Given the description of an element on the screen output the (x, y) to click on. 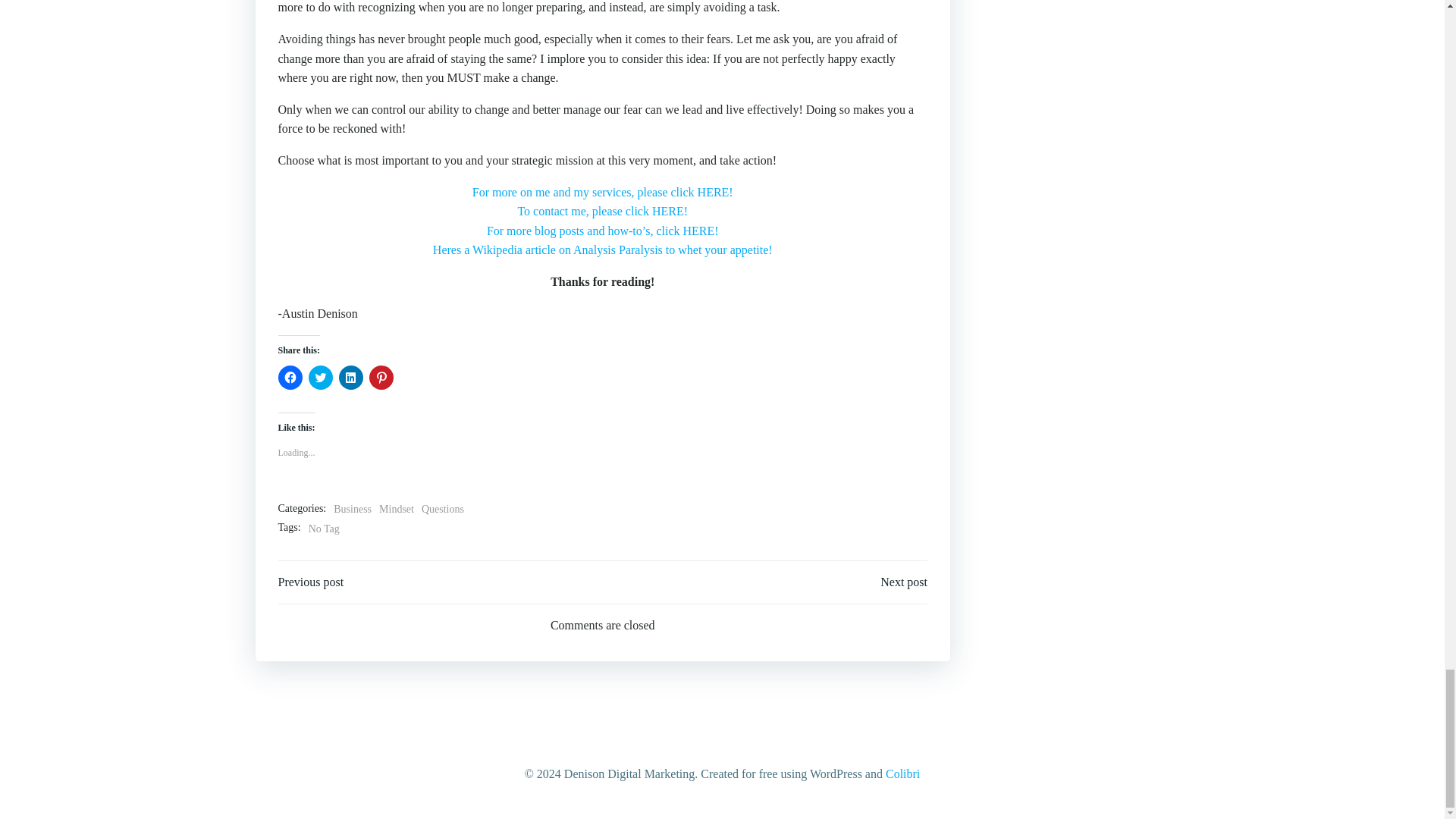
Questions (443, 509)
Click to share on Facebook (289, 377)
Click to share on Twitter (319, 377)
Click to share on LinkedIn (349, 377)
Previous post (310, 582)
Mindset (395, 509)
For more on me and my services, please click HERE! (602, 192)
To contact me, please click HERE! (601, 210)
Business (352, 509)
Click to share on Pinterest (380, 377)
Next post (903, 582)
